Given the description of an element on the screen output the (x, y) to click on. 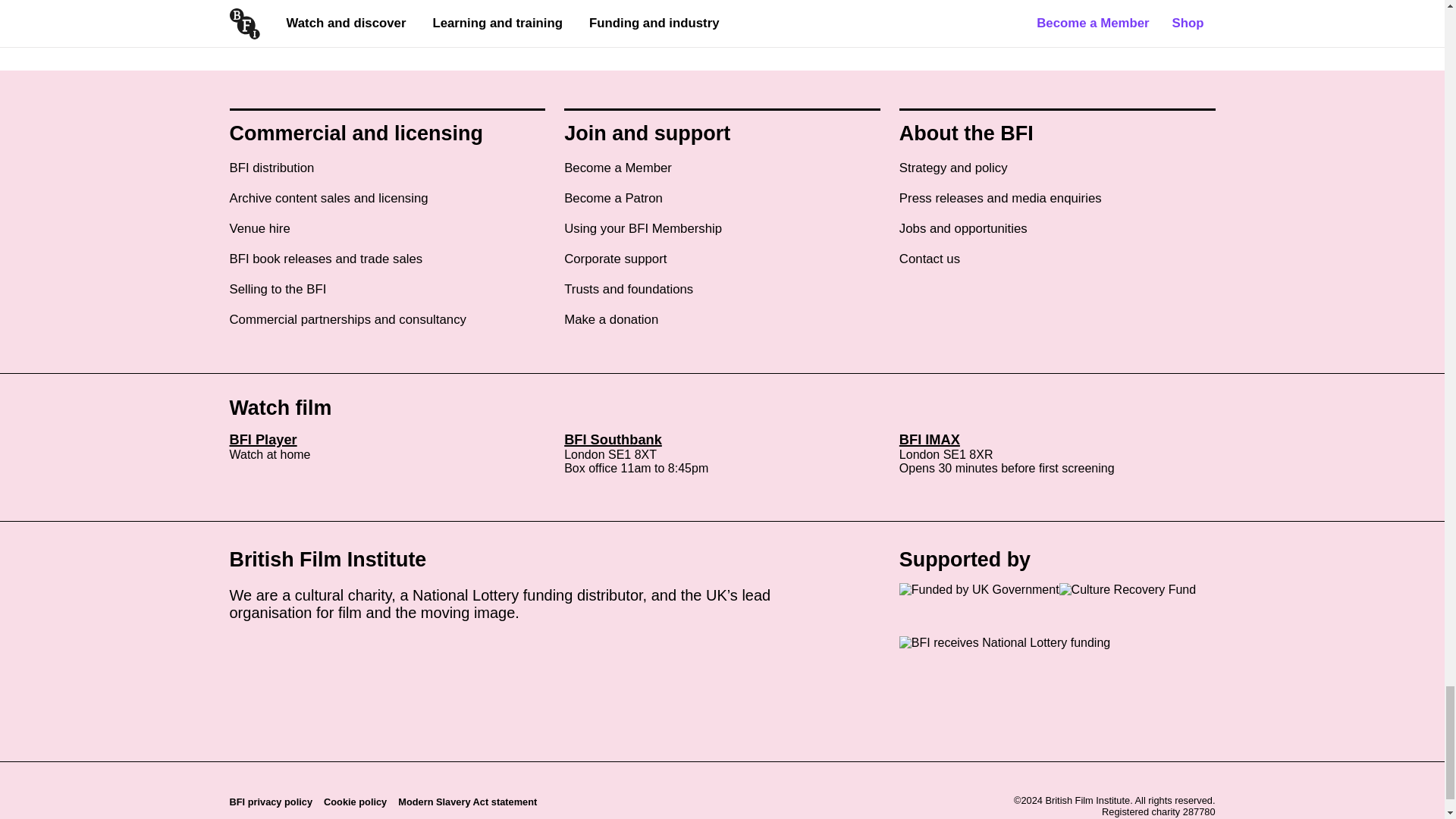
YouTube (347, 650)
View our Facebook (269, 656)
Venue hire (258, 228)
View our YouTube (347, 656)
Press releases and media enquiries (1000, 198)
View our LinkedIn (322, 656)
BFI book releases and trade sales (325, 258)
Trusts and foundations (628, 289)
Join and support (647, 133)
Twitter (242, 650)
View our Twitter (242, 656)
Selling to the BFI (277, 289)
Facebook (269, 650)
